Given the description of an element on the screen output the (x, y) to click on. 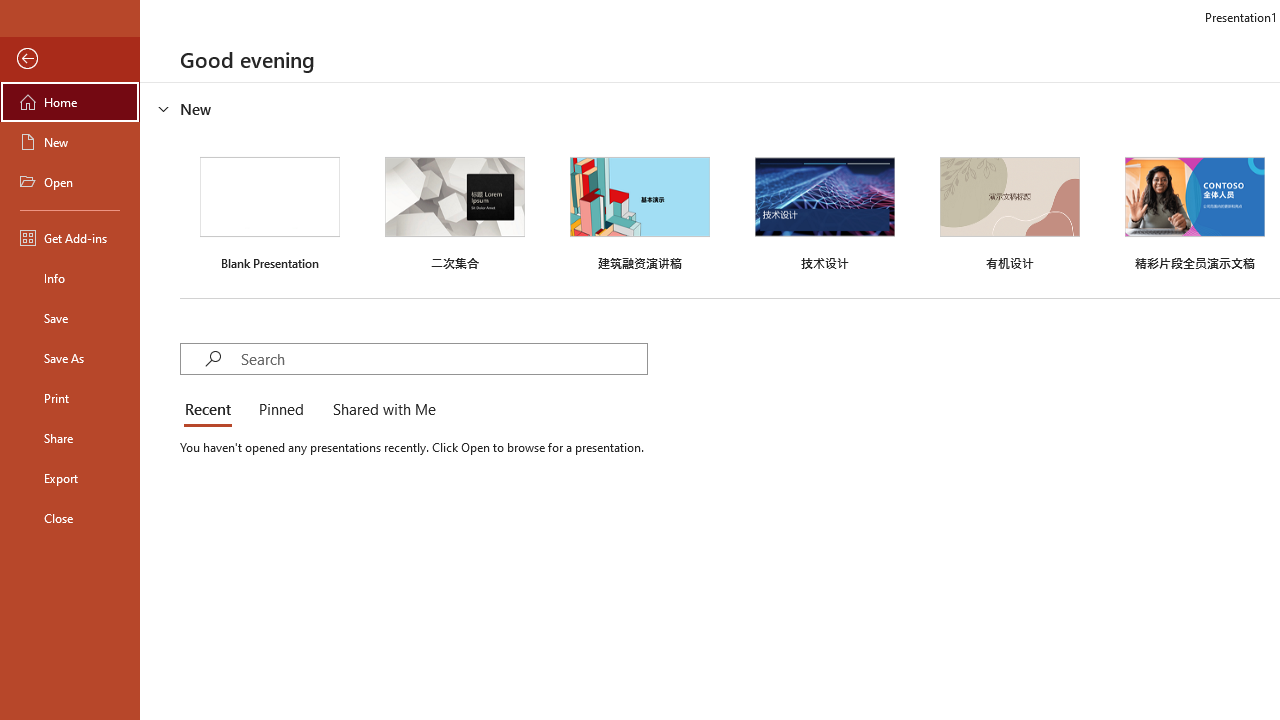
Shared with Me (379, 410)
Recent (212, 410)
Back (69, 59)
Save As (69, 357)
Export (69, 477)
Get Add-ins (69, 237)
Blank Presentation (269, 211)
